Given the description of an element on the screen output the (x, y) to click on. 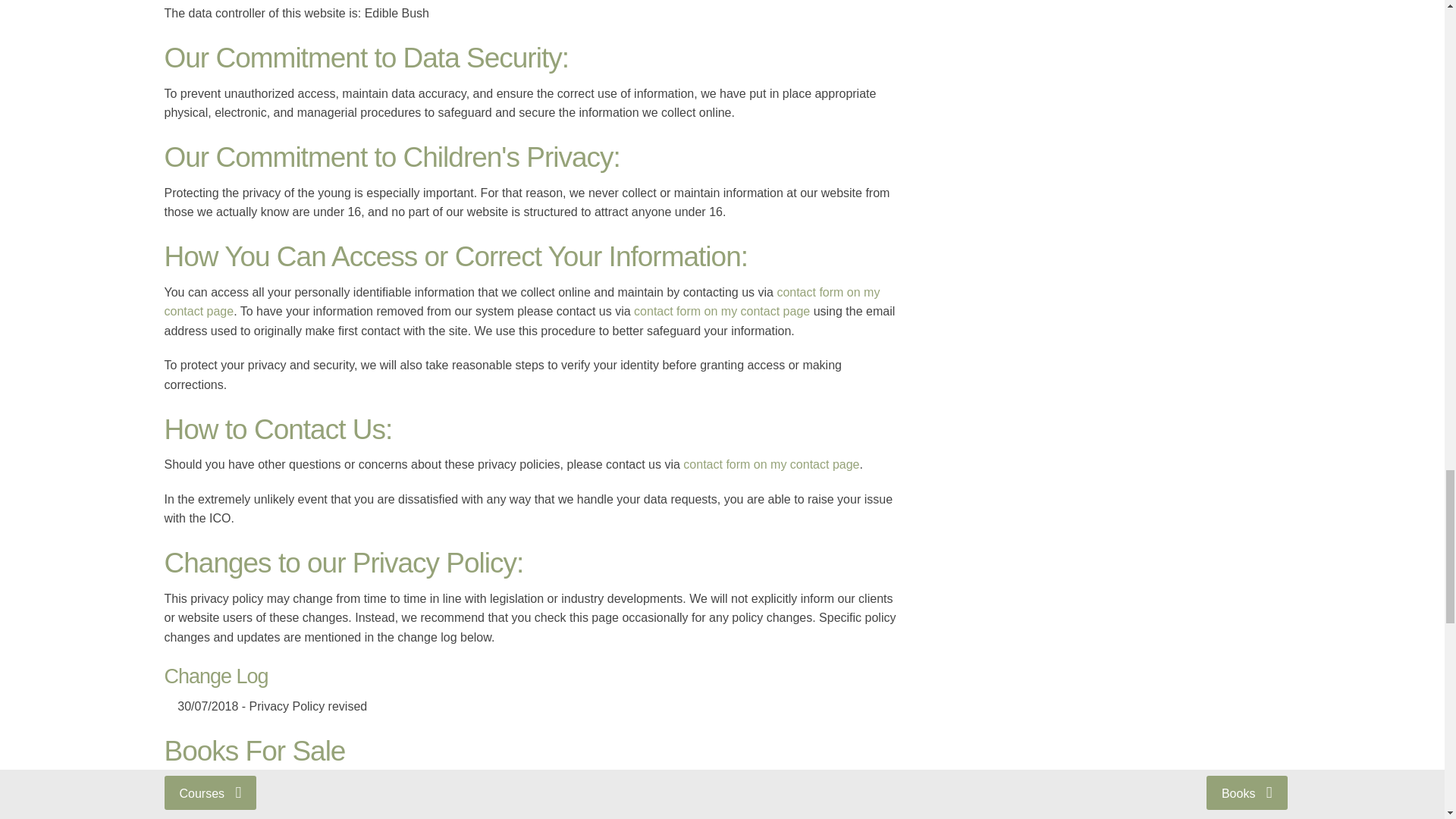
contact form on my contact page (721, 310)
contact form on my contact page (770, 463)
contact form on my contact page (521, 301)
